Given the description of an element on the screen output the (x, y) to click on. 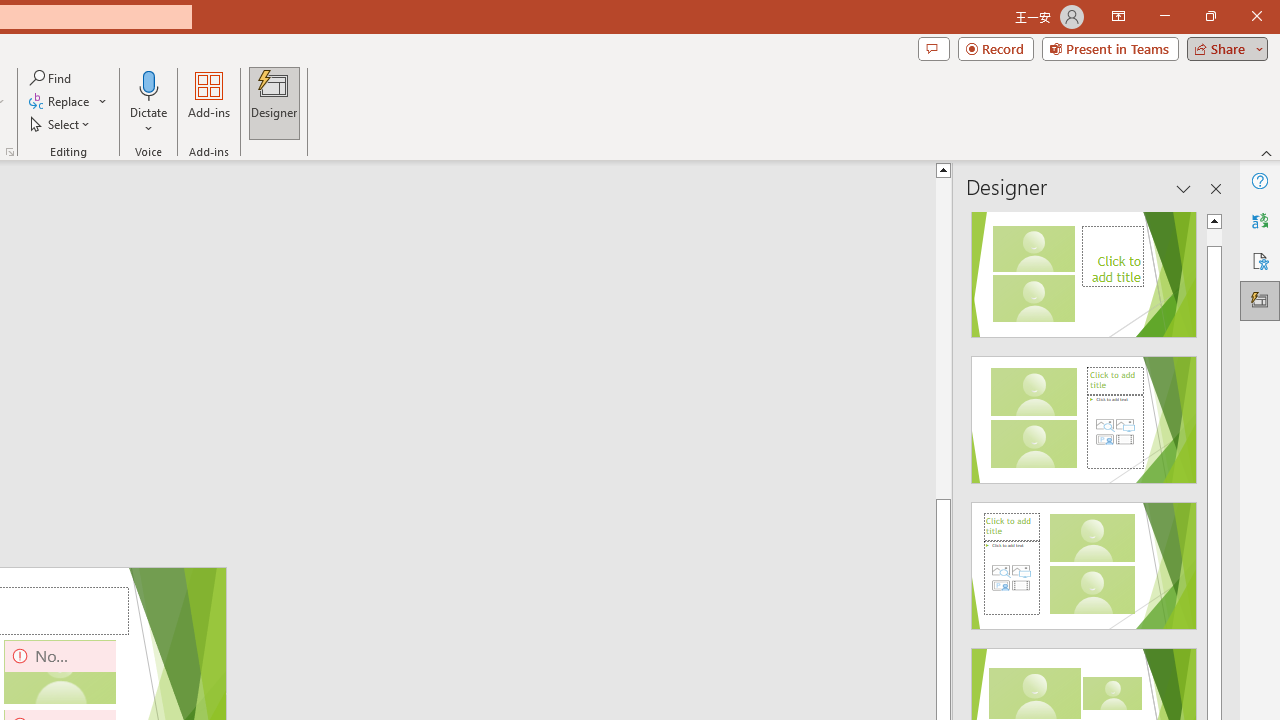
Recommended Design: Design Idea (1083, 268)
